Given the description of an element on the screen output the (x, y) to click on. 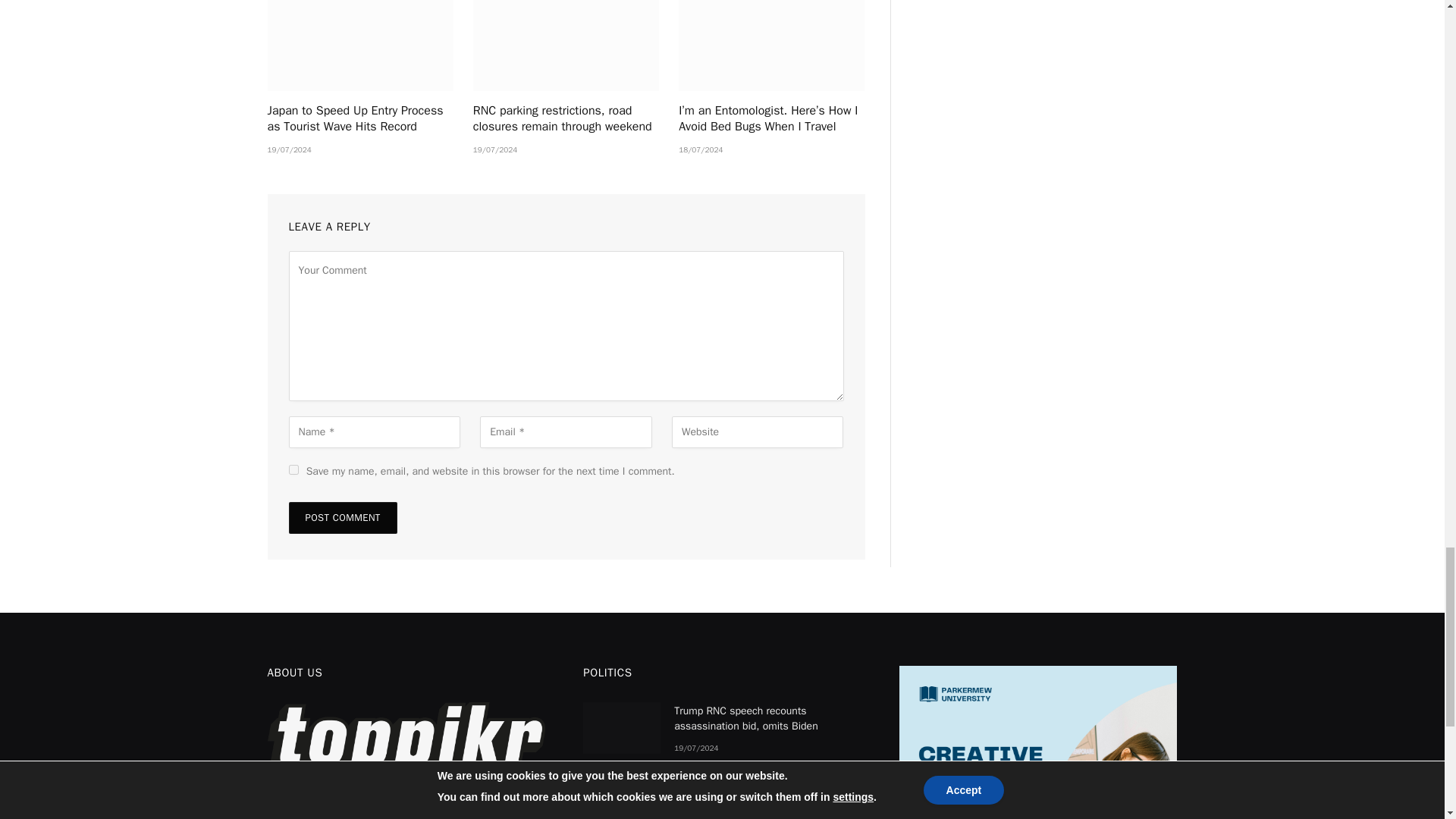
Post Comment (342, 517)
yes (293, 470)
